Given the description of an element on the screen output the (x, y) to click on. 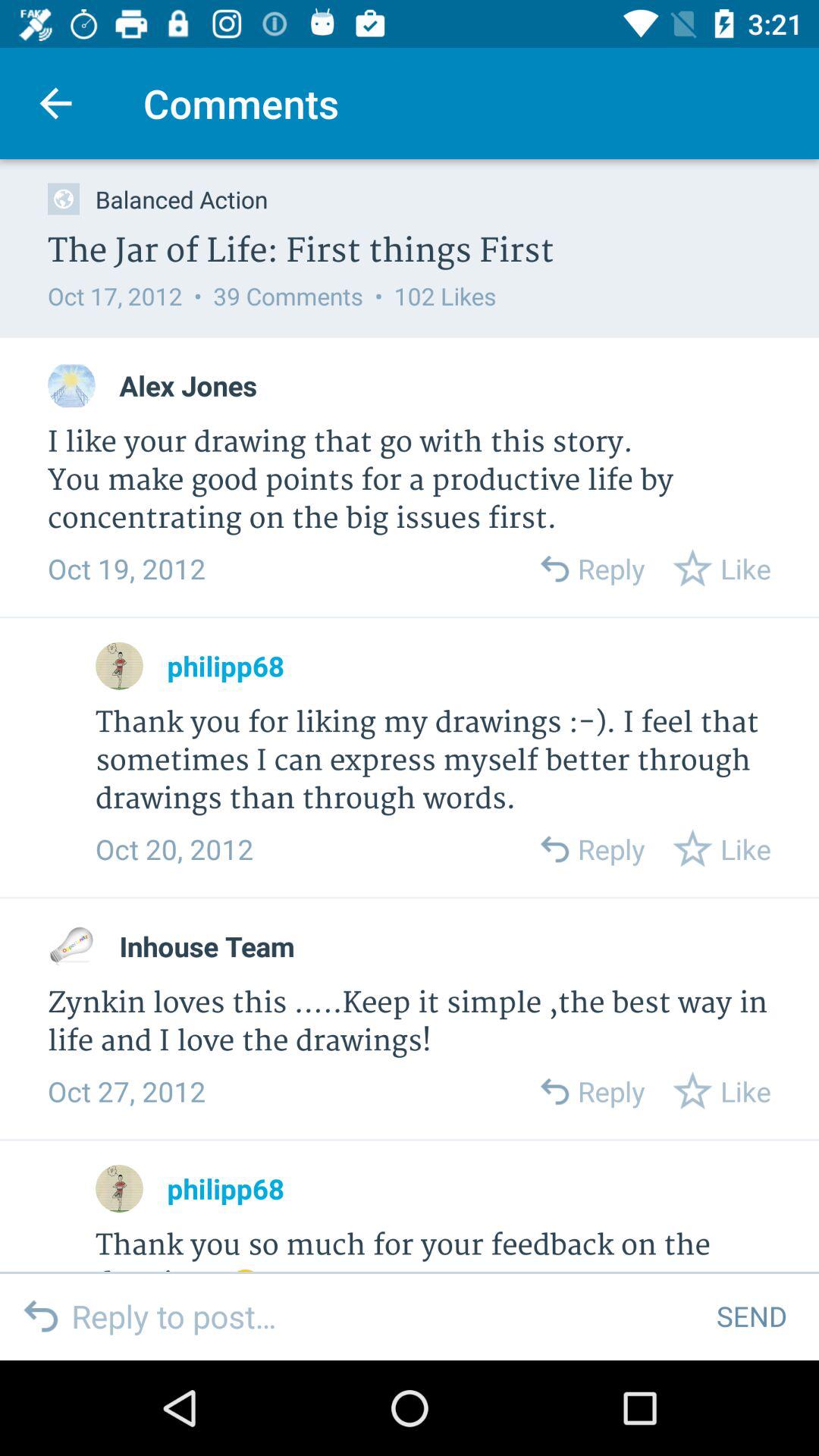
press icon to the left of send icon (381, 1315)
